Given the description of an element on the screen output the (x, y) to click on. 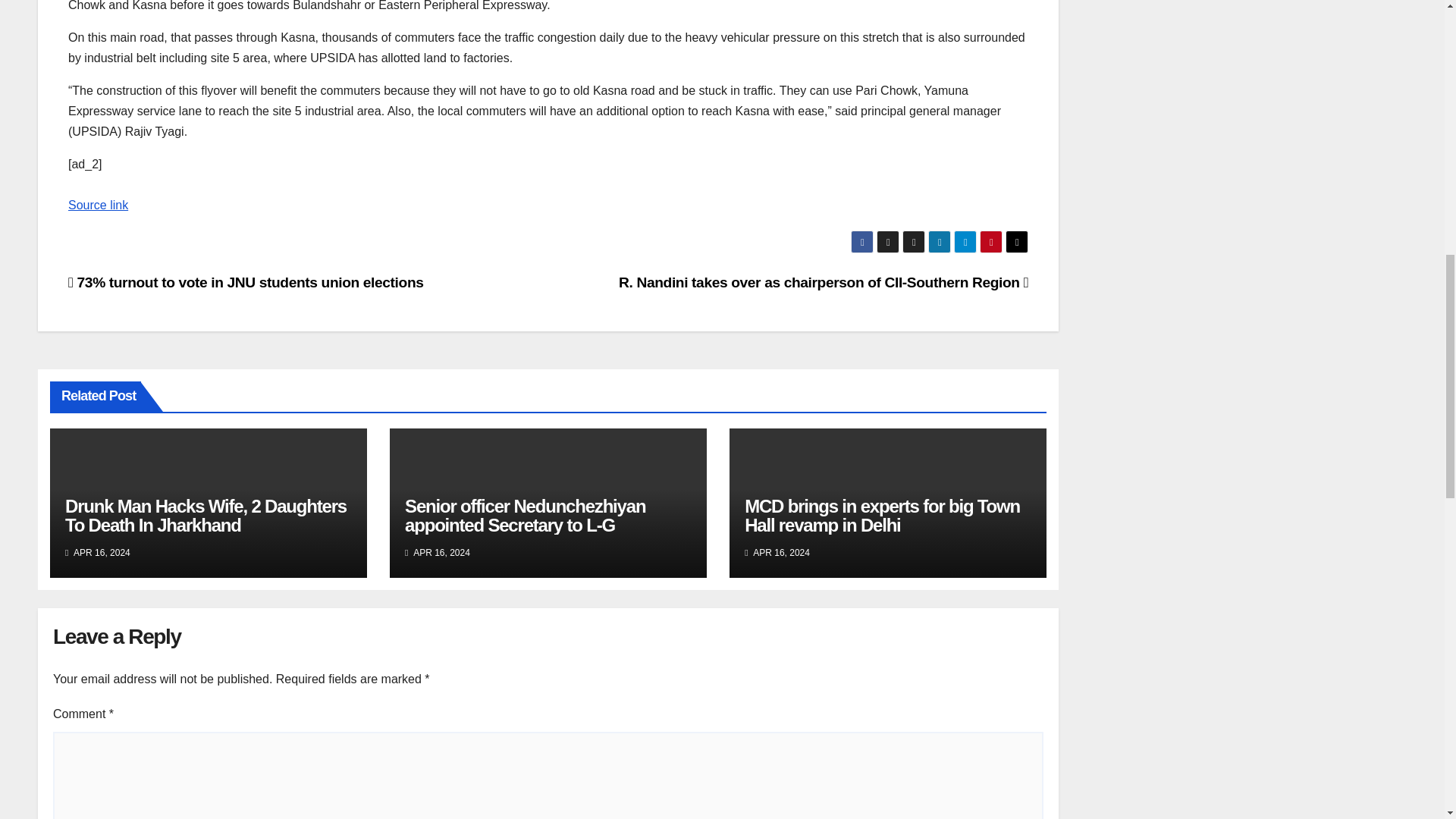
Drunk Man Hacks Wife, 2 Daughters To Death In Jharkhand (205, 515)
Source link (98, 205)
R. Nandini takes over as chairperson of CII-Southern Region (822, 282)
